Given the description of an element on the screen output the (x, y) to click on. 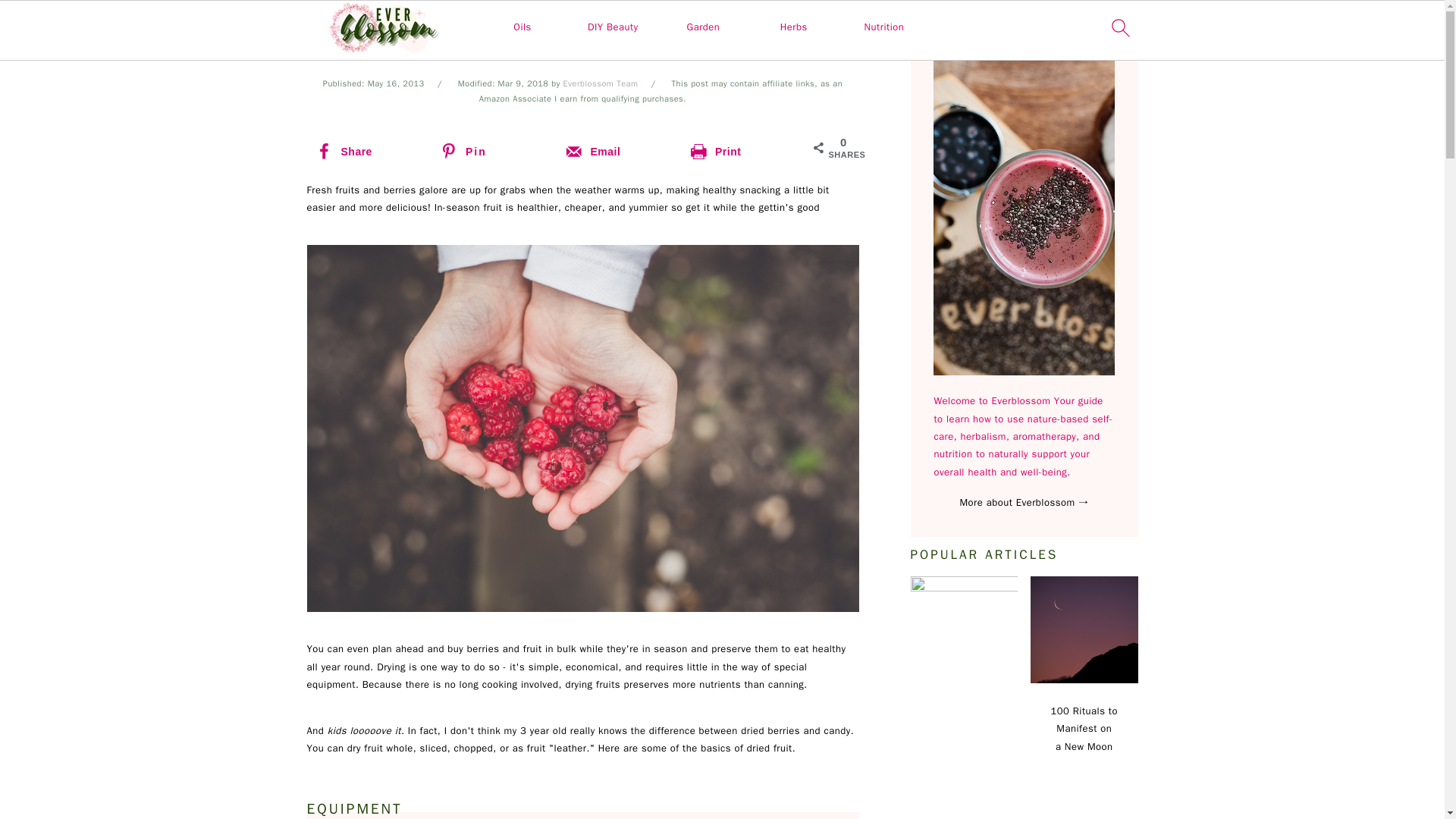
Share (367, 151)
Print (743, 151)
Home (525, 22)
Print this webpage (743, 151)
Pin (493, 151)
search icon (1119, 27)
Blog (557, 22)
Garden (703, 27)
Oils (522, 27)
search icon (1119, 30)
Holistic Wellness (615, 22)
DIY Beauty (613, 27)
Herbs (794, 27)
Share on Facebook (367, 151)
